Given the description of an element on the screen output the (x, y) to click on. 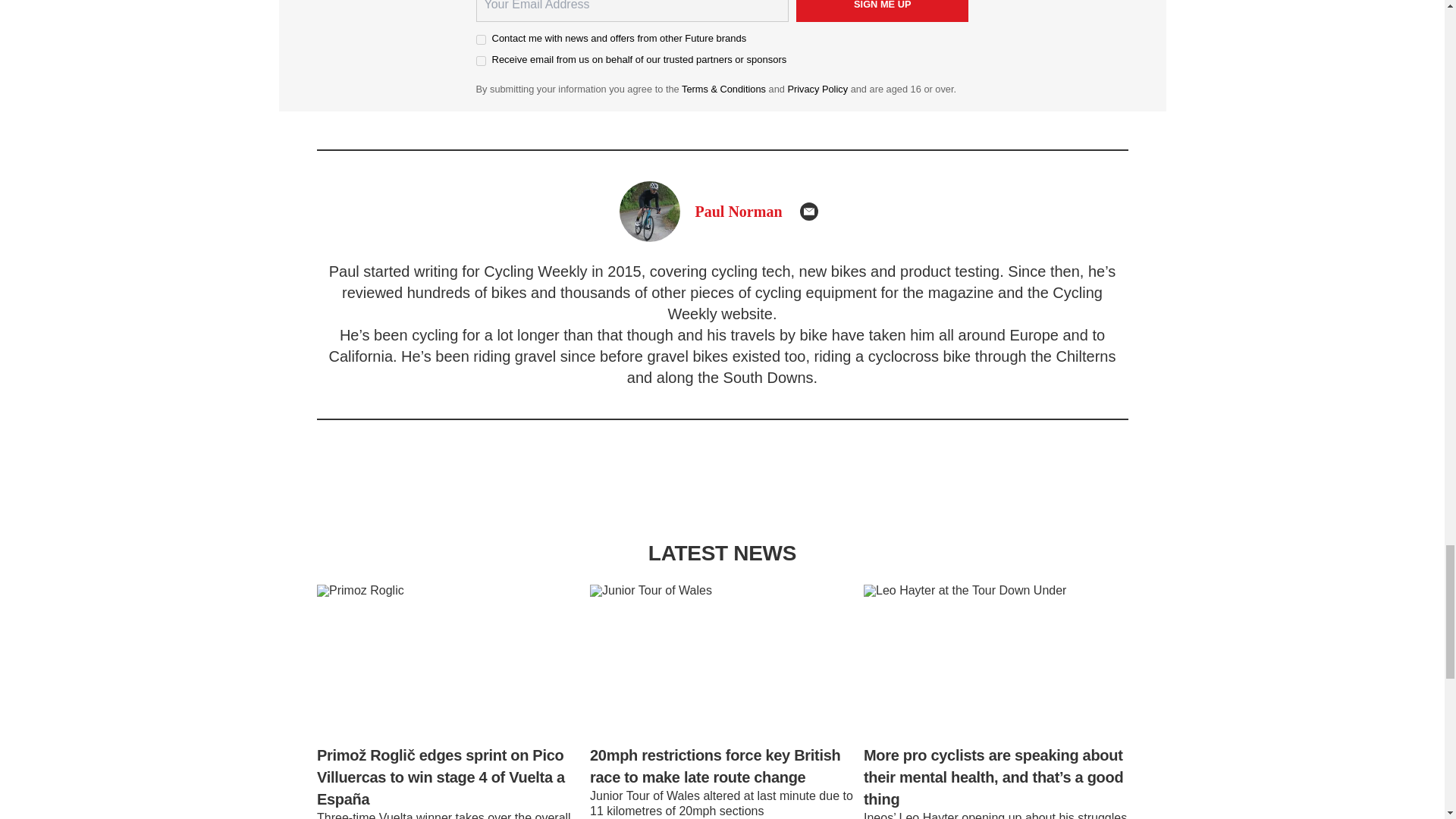
on (481, 40)
Sign me up (882, 11)
on (481, 61)
